Given the description of an element on the screen output the (x, y) to click on. 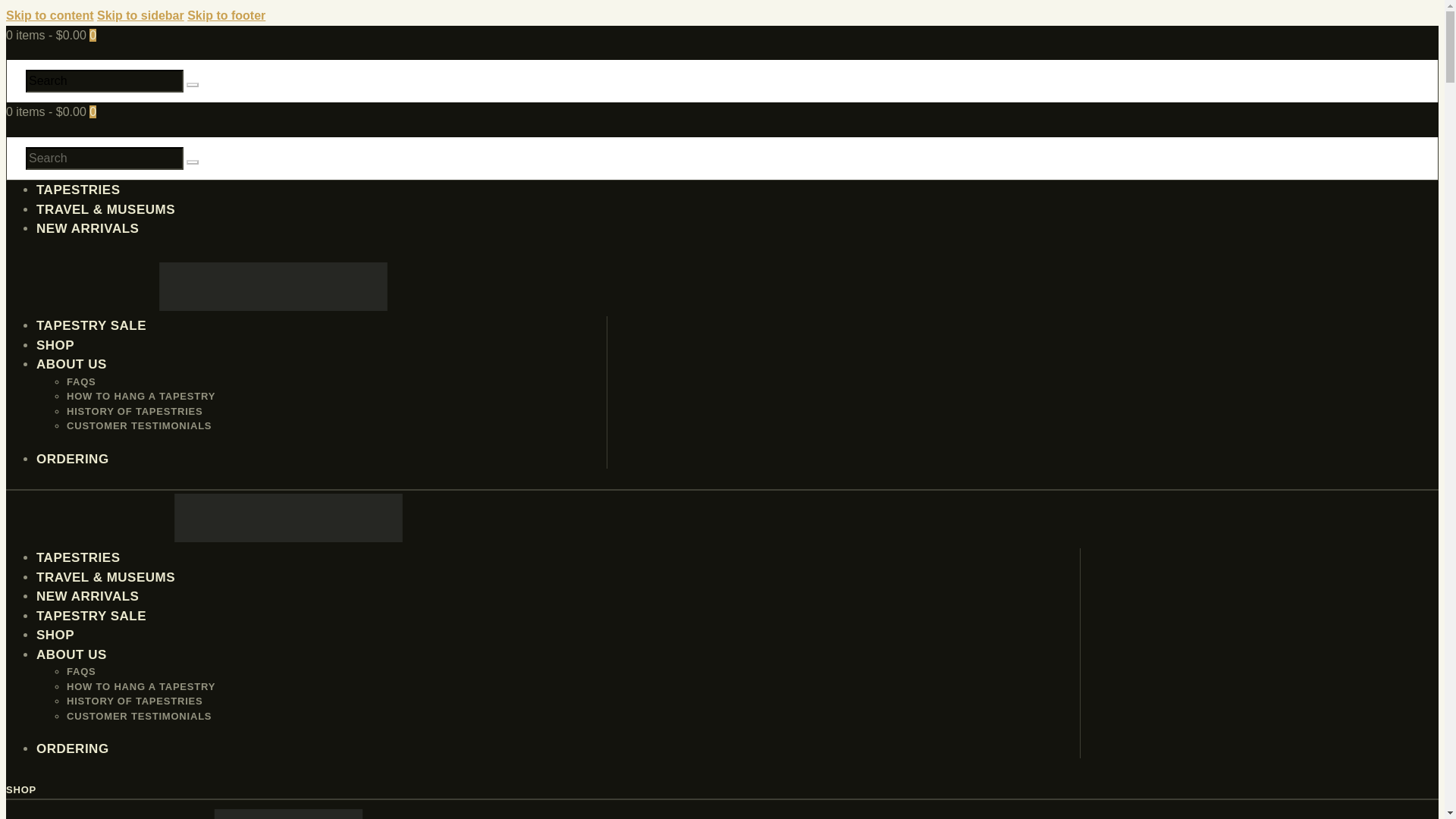
HOW TO HANG A TAPESTRY (140, 396)
HOW TO HANG A TAPESTRY (140, 686)
ABOUT US (71, 654)
TAPESTRIES (77, 189)
HISTORY OF TAPESTRIES (134, 410)
FAQS (81, 671)
NEW ARRIVALS (87, 228)
HISTORY OF TAPESTRIES (134, 700)
TAPESTRY SALE (91, 325)
Skip to footer (225, 15)
SHOP (55, 635)
SHOP (20, 789)
NEW ARRIVALS (87, 595)
SHOP (55, 345)
ORDERING (72, 459)
